Given the description of an element on the screen output the (x, y) to click on. 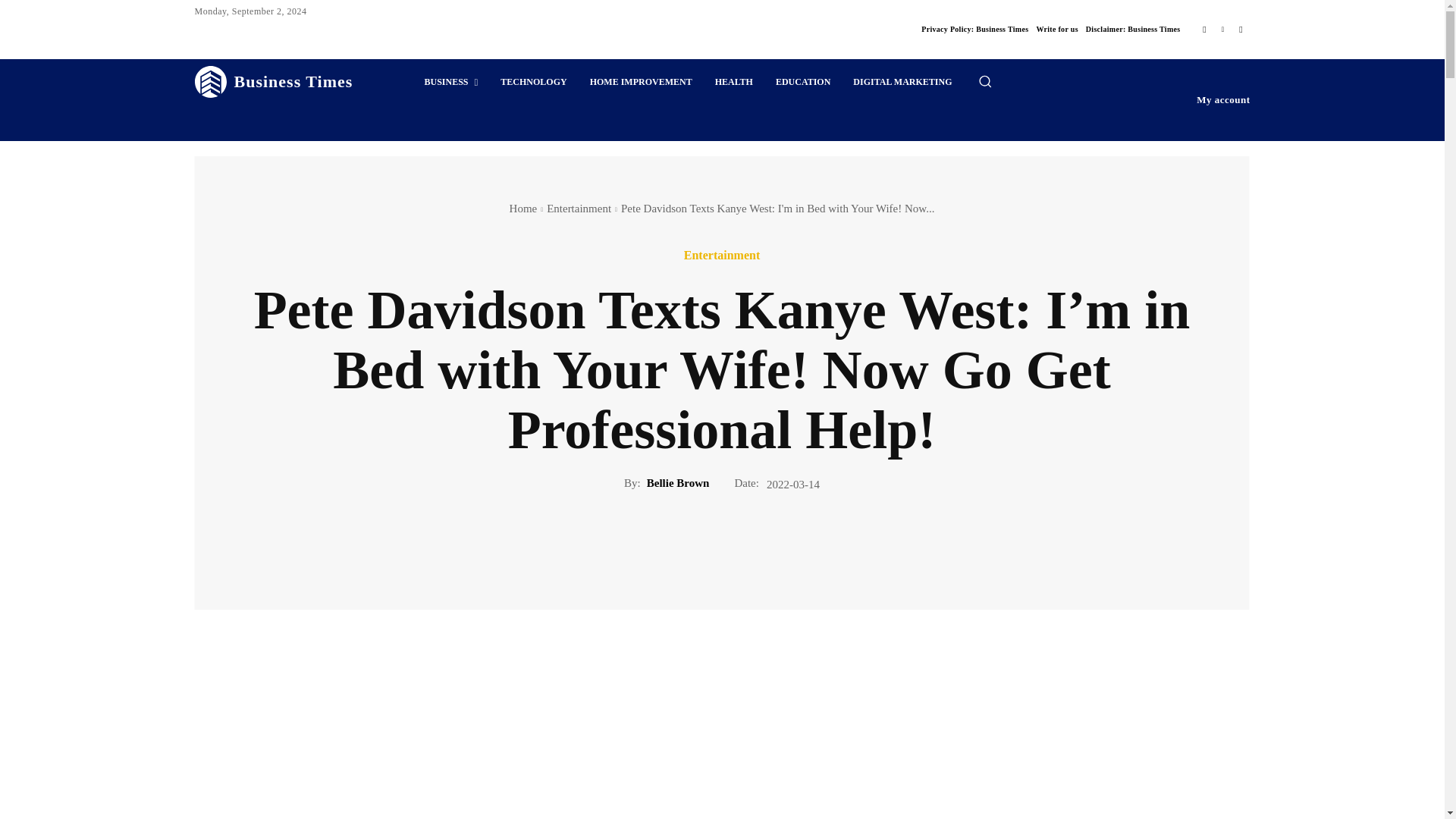
Entertainment (579, 208)
Facebook (1203, 29)
DIGITAL MARKETING (901, 81)
EDUCATION (802, 81)
Business Times (272, 81)
TECHNOLOGY (533, 81)
HOME IMPROVEMENT (640, 81)
Linkedin (1221, 29)
Write for us (1056, 29)
HEALTH (733, 81)
